Given the description of an element on the screen output the (x, y) to click on. 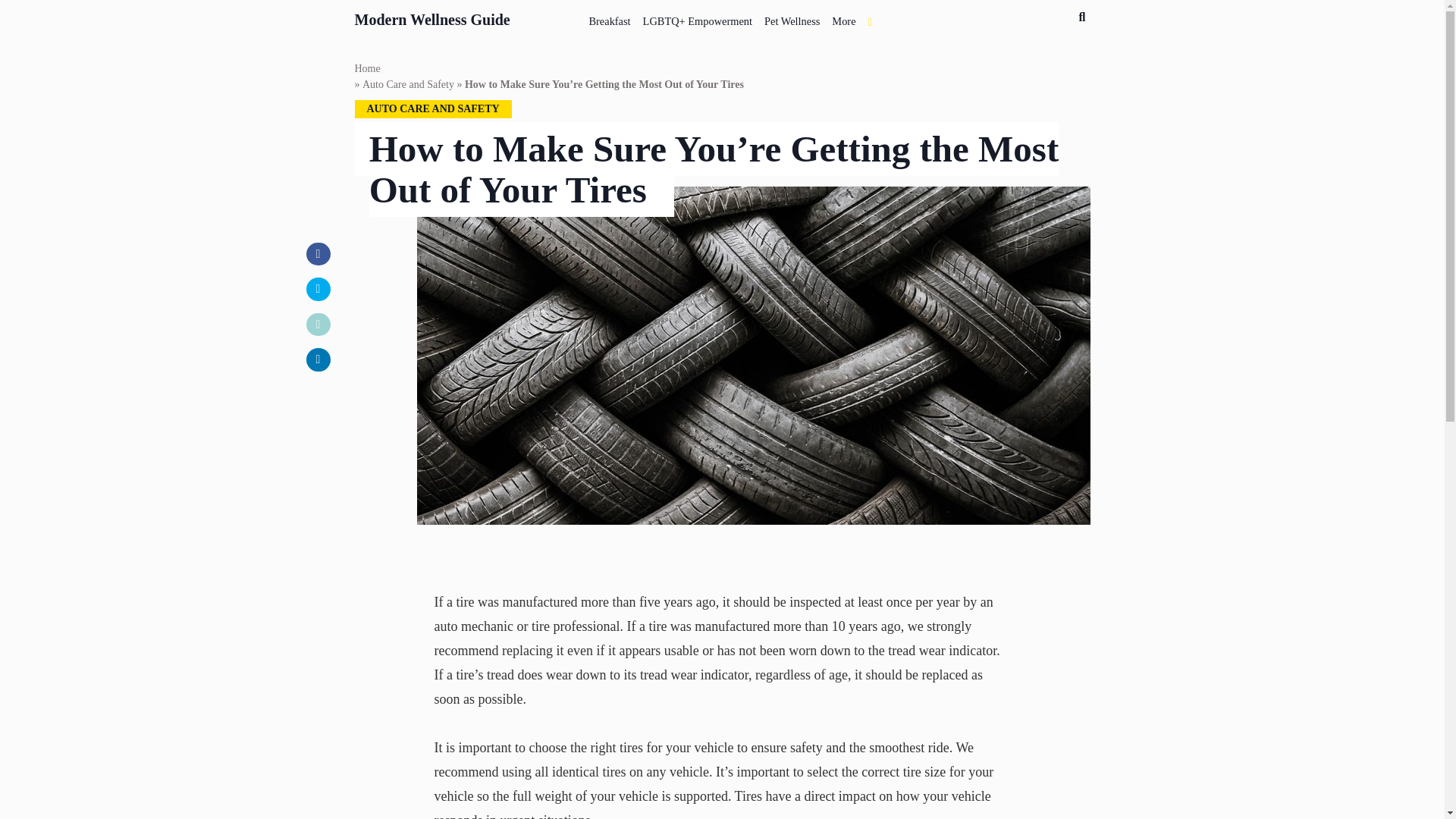
Modern Wellness Guide (433, 17)
Pet Wellness (791, 18)
Breakfast (609, 18)
More (843, 18)
